Given the description of an element on the screen output the (x, y) to click on. 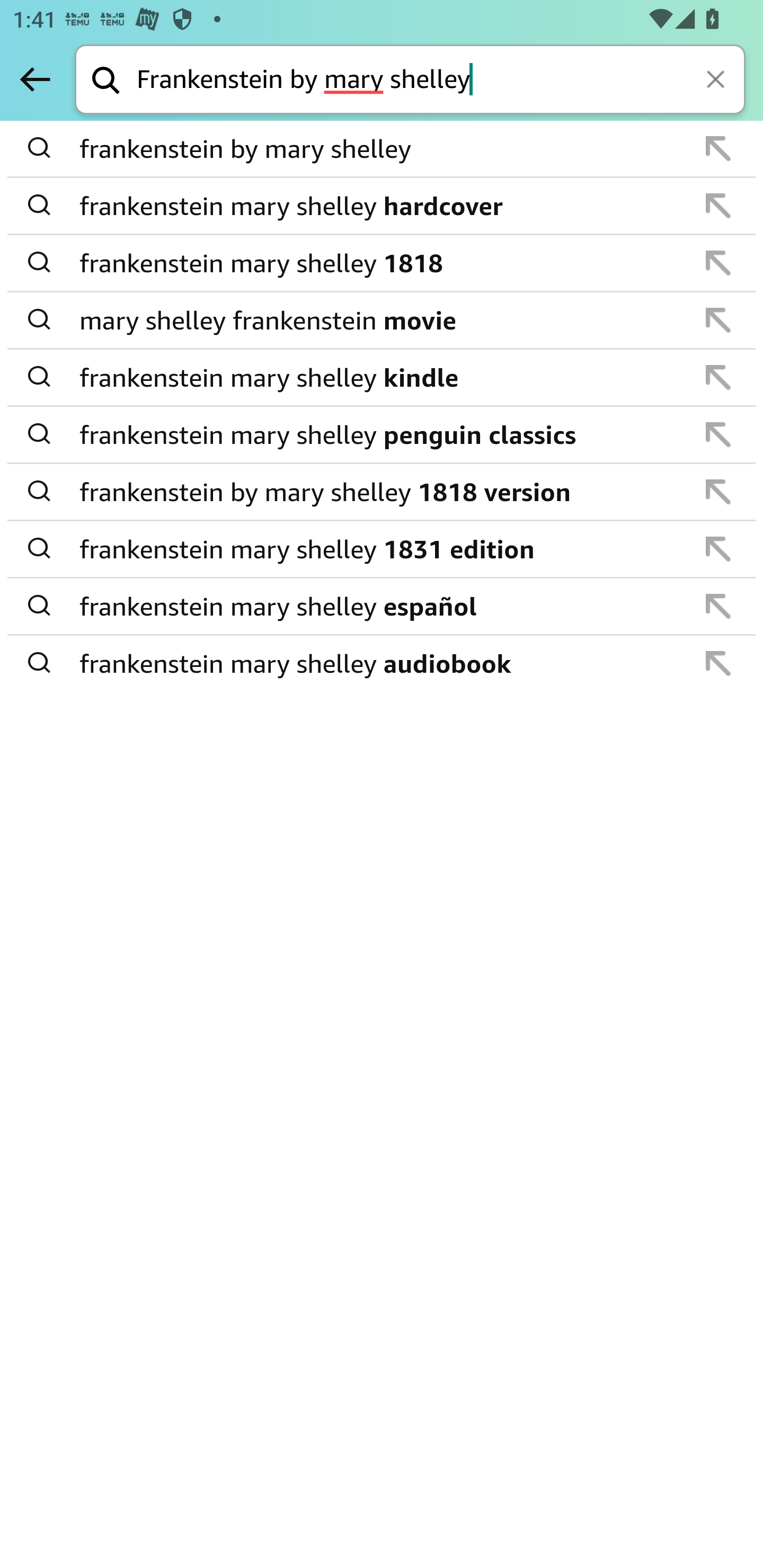
Frankenstein by mary shelley (440, 80)
Clear search keywords (717, 80)
Back (35, 78)
append suggestion frankenstein by mary shelley (381, 149)
frankenstein by mary shelley (382, 149)
append suggestion (718, 147)
frankenstein mary shelley hardcover (382, 205)
append suggestion (718, 205)
frankenstein mary shelley 1818 (382, 262)
append suggestion frankenstein mary shelley 1818 (381, 263)
append suggestion (718, 262)
mary shelley frankenstein movie (382, 319)
append suggestion mary shelley frankenstein movie (381, 320)
append suggestion (718, 319)
frankenstein mary shelley kindle (382, 377)
append suggestion frankenstein mary shelley kindle (381, 377)
append suggestion (718, 376)
frankenstein mary shelley penguin classics (382, 434)
append suggestion (718, 434)
frankenstein by mary shelley 1818 version (382, 491)
append suggestion (718, 491)
frankenstein mary shelley 1831 edition (382, 548)
append suggestion (718, 548)
frankenstein mary shelley español (382, 606)
append suggestion (718, 605)
frankenstein mary shelley audiobook (382, 662)
append suggestion (718, 663)
